Given the description of an element on the screen output the (x, y) to click on. 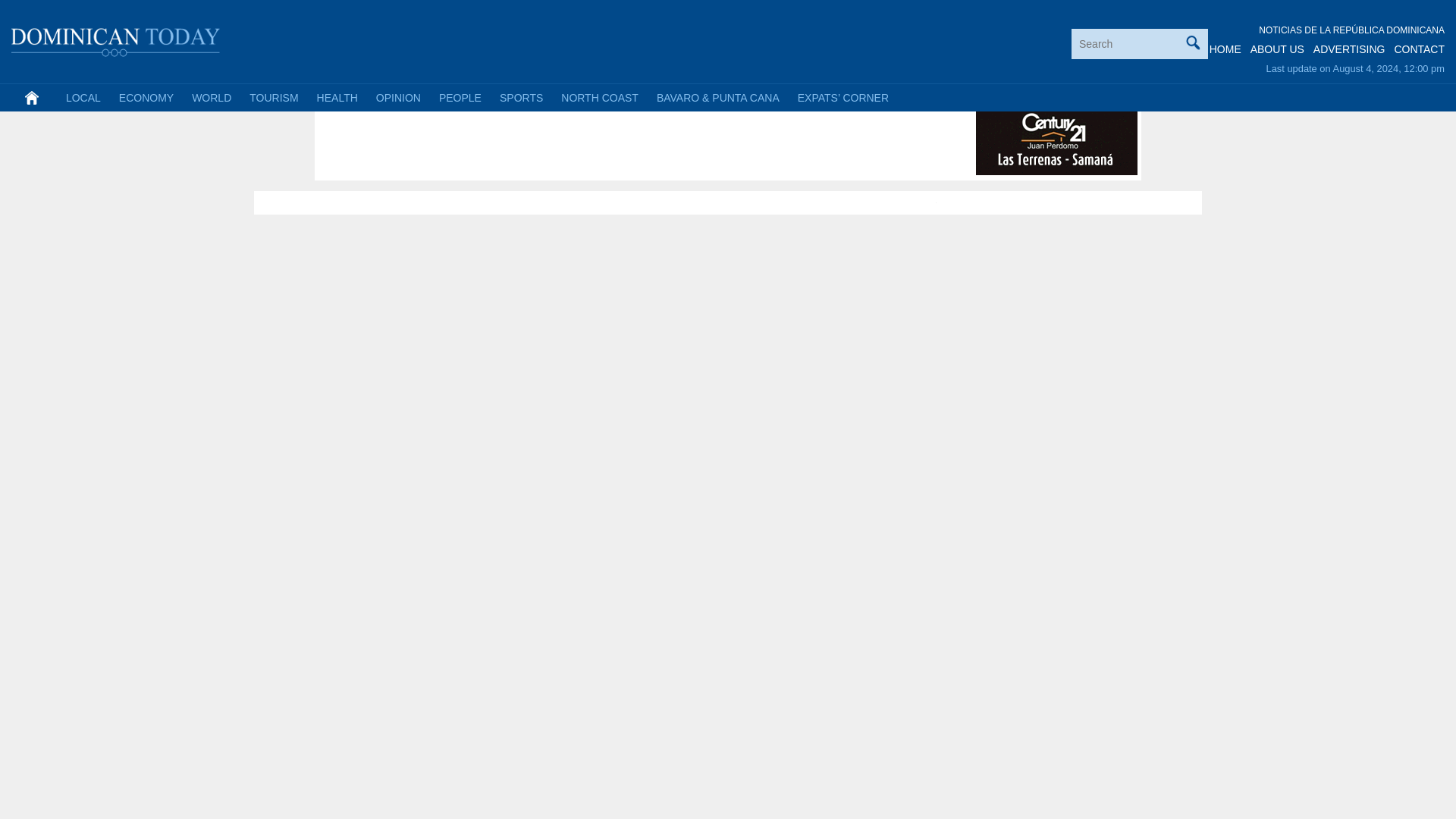
HOME (1225, 49)
OPINION (397, 97)
CONTACT (1418, 49)
ADVERTISING (1349, 49)
LOCAL (83, 97)
NORTH COAST (599, 97)
Dominican Today News - Santo Domingo and Dominican Republic (116, 38)
SPORTS (520, 97)
HEALTH (336, 97)
ABOUT US (1277, 49)
TOURISM (273, 97)
ECONOMY (146, 97)
PEOPLE (459, 97)
WORLD (211, 97)
